Given the description of an element on the screen output the (x, y) to click on. 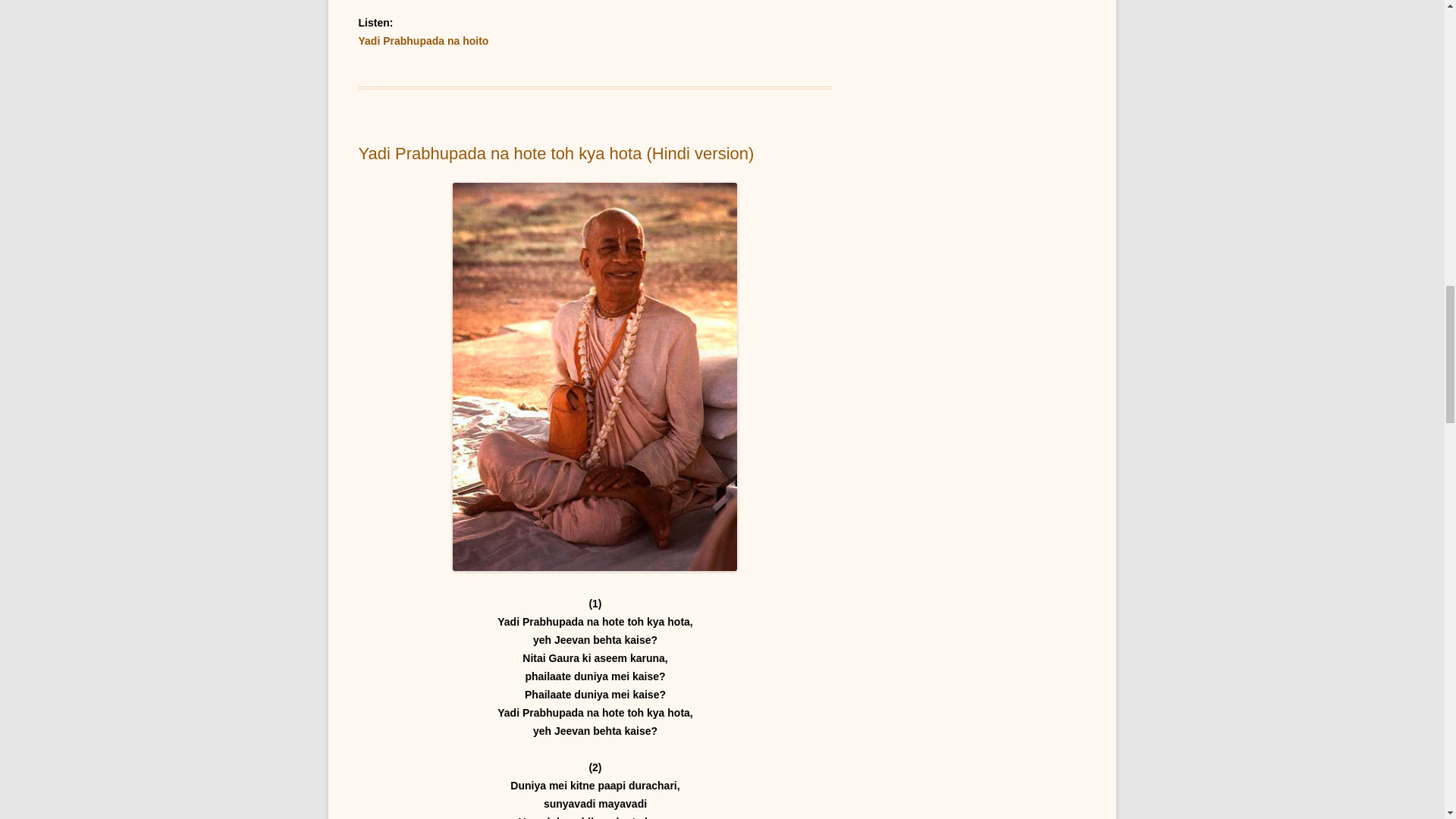
Yadi Prabhupada na hoito (422, 40)
